Given the description of an element on the screen output the (x, y) to click on. 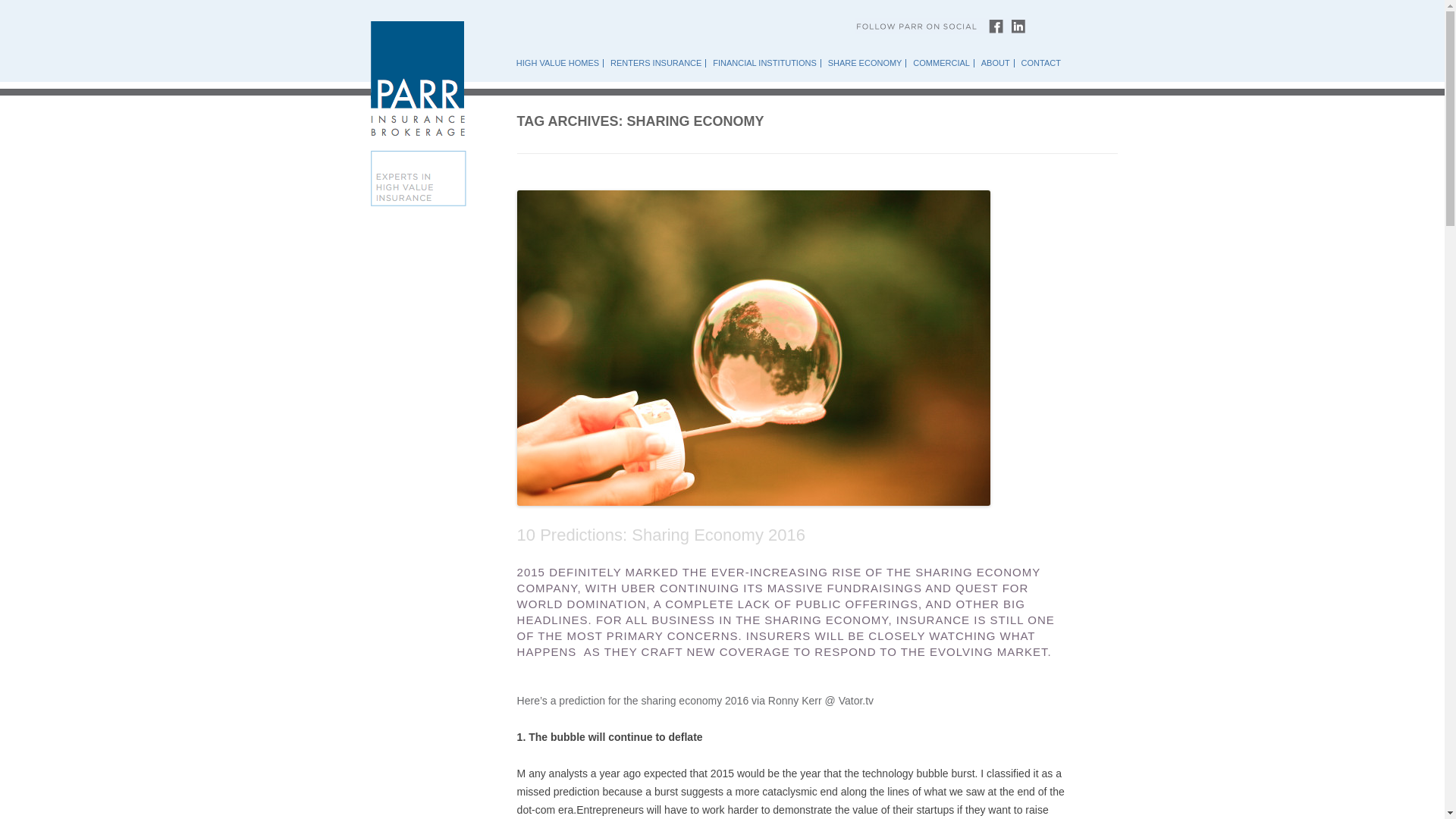
Parr Insurance Brokerage, Inc. (417, 204)
COMMERCIAL (941, 62)
10 Predictions: Sharing Economy 2016 (660, 534)
ABOUT (995, 62)
FINANCIAL INSTITUTIONS (765, 62)
CONTACT (1039, 62)
RENTERS INSURANCE (656, 62)
SHARE ECONOMY (865, 62)
HIGH VALUE HOMES (560, 62)
